Given the description of an element on the screen output the (x, y) to click on. 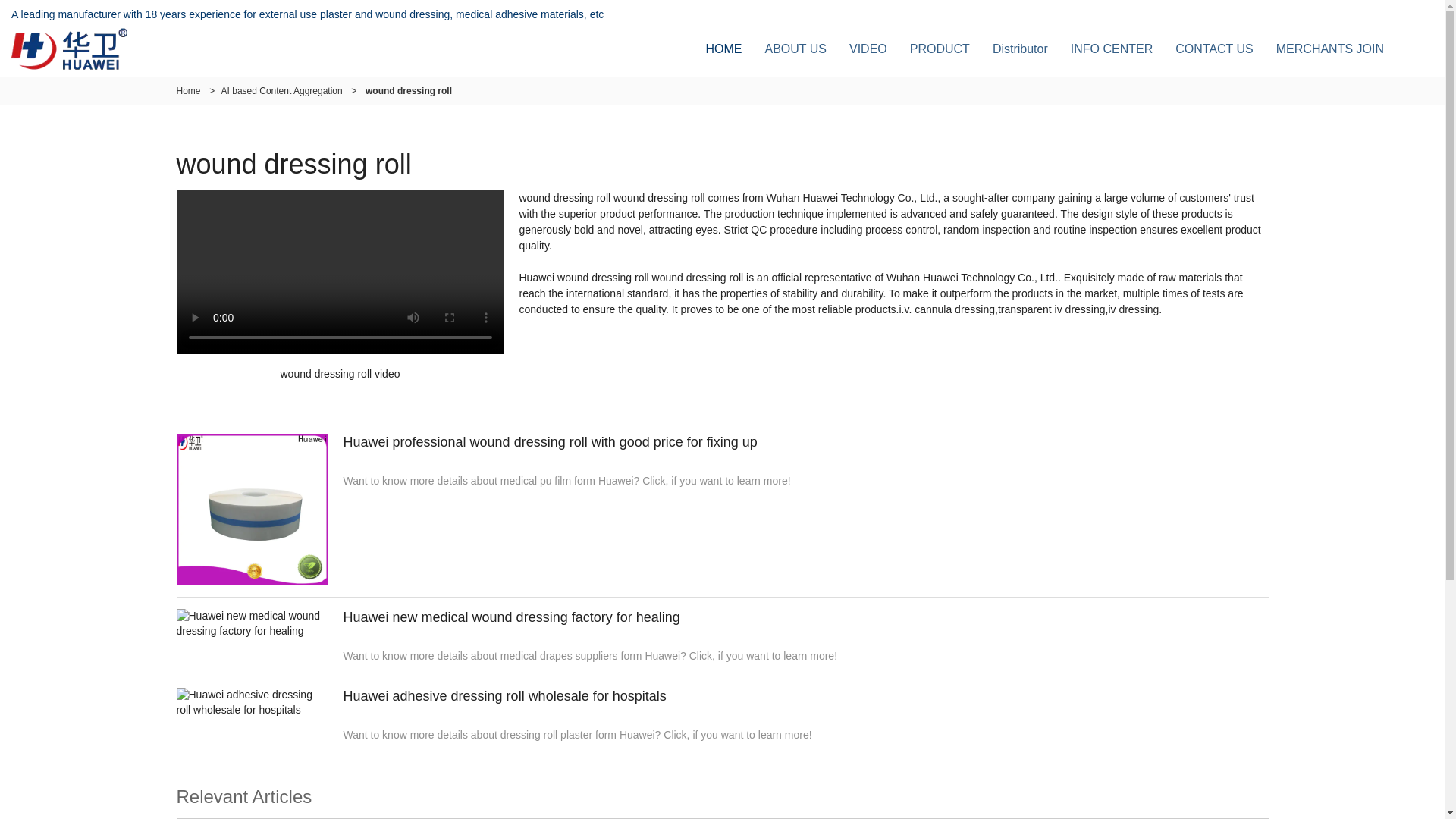
INFO CENTER (1111, 49)
Distributor (1020, 49)
PRODUCT (939, 49)
ABOUT US (795, 49)
CONTACT US (1213, 49)
